Given the description of an element on the screen output the (x, y) to click on. 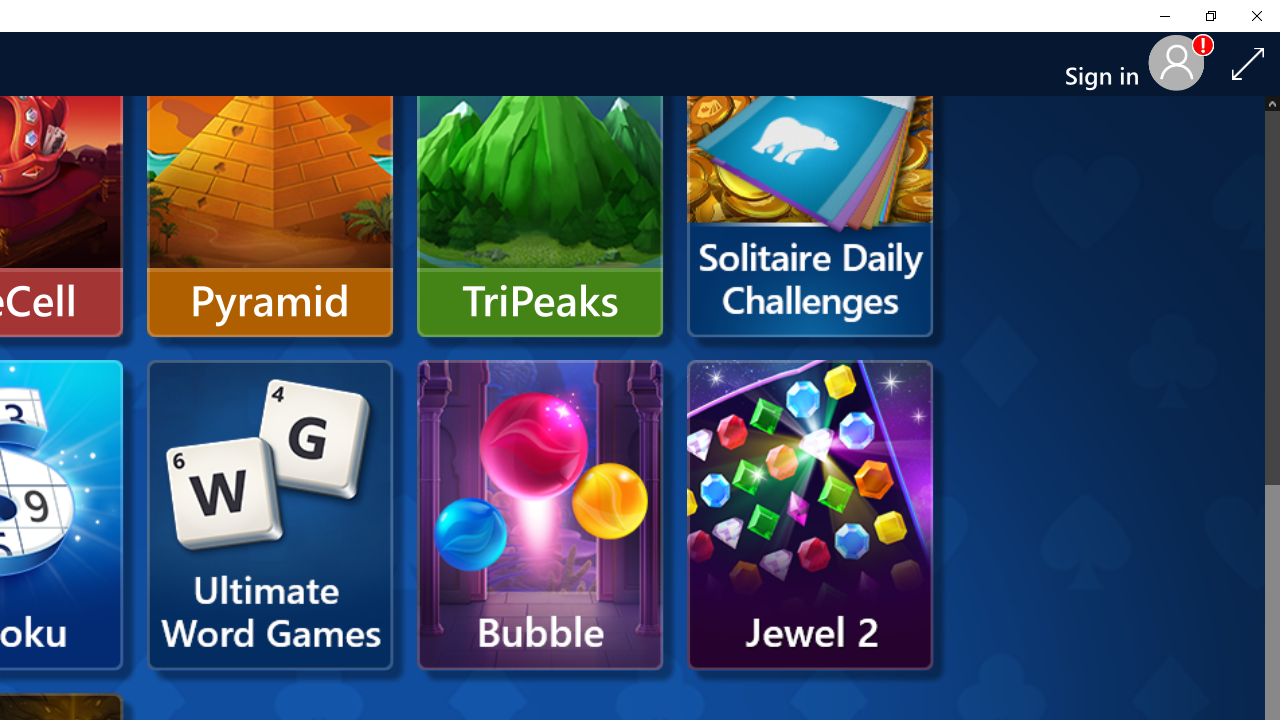
Microsoft Bubble (540, 515)
Minimize Solitaire & Casual Games (1164, 15)
Close Solitaire & Casual Games (1256, 15)
Microsoft UWG (269, 515)
Challenges (810, 181)
Microsoft Jewel 2 (810, 515)
Restore Solitaire & Casual Games (1210, 15)
TriPeaks (540, 181)
AutomationID: up_arrow_0 (1272, 102)
Pyramid (269, 181)
Sign in (1109, 64)
Full Screen View (1248, 63)
